Given the description of an element on the screen output the (x, y) to click on. 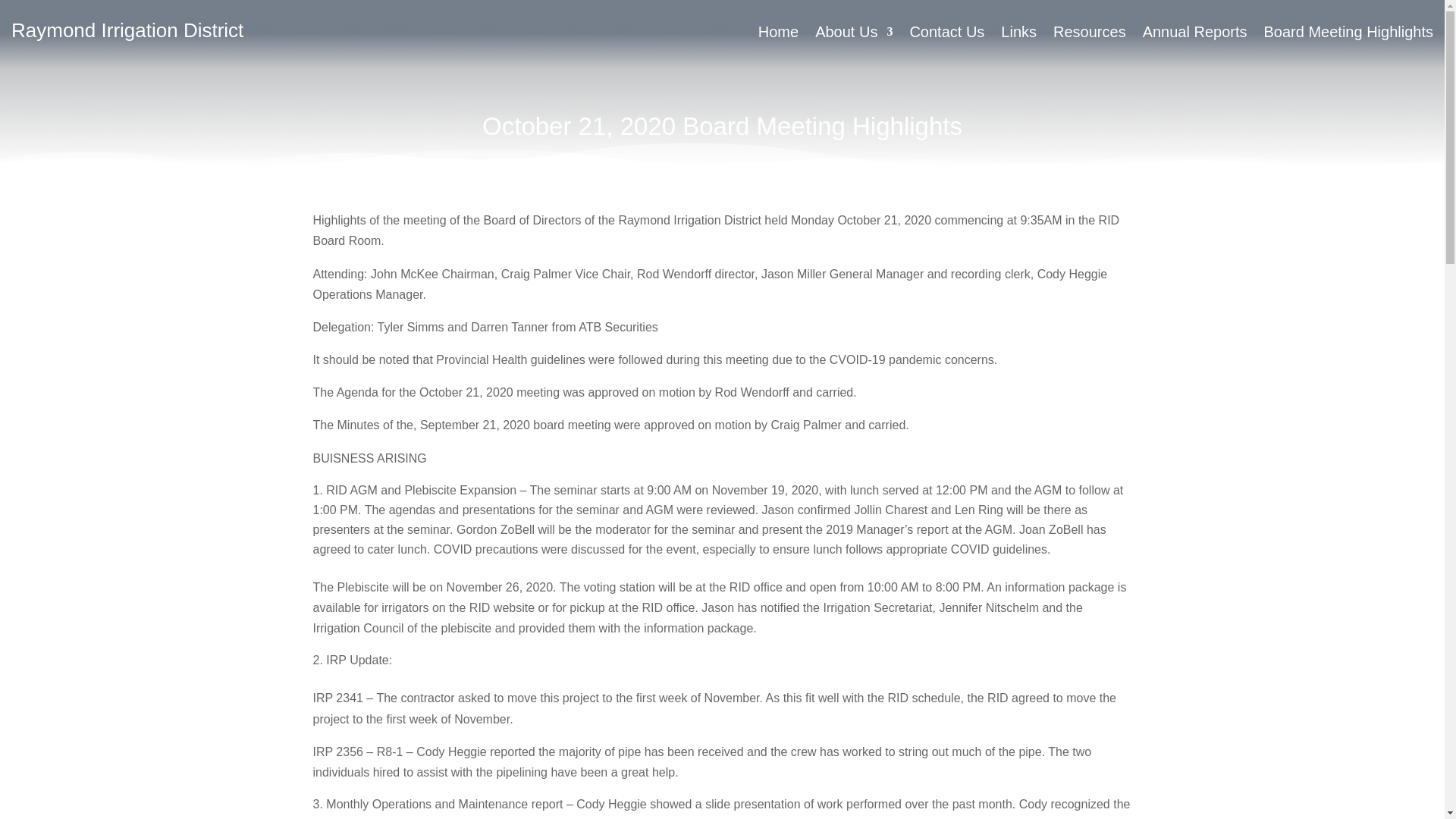
About Us (853, 34)
Board Meeting Highlights (1347, 34)
Links (1018, 34)
Annual Reports (1194, 34)
Resources (1088, 34)
Home (777, 34)
Contact Us (946, 34)
